Given the description of an element on the screen output the (x, y) to click on. 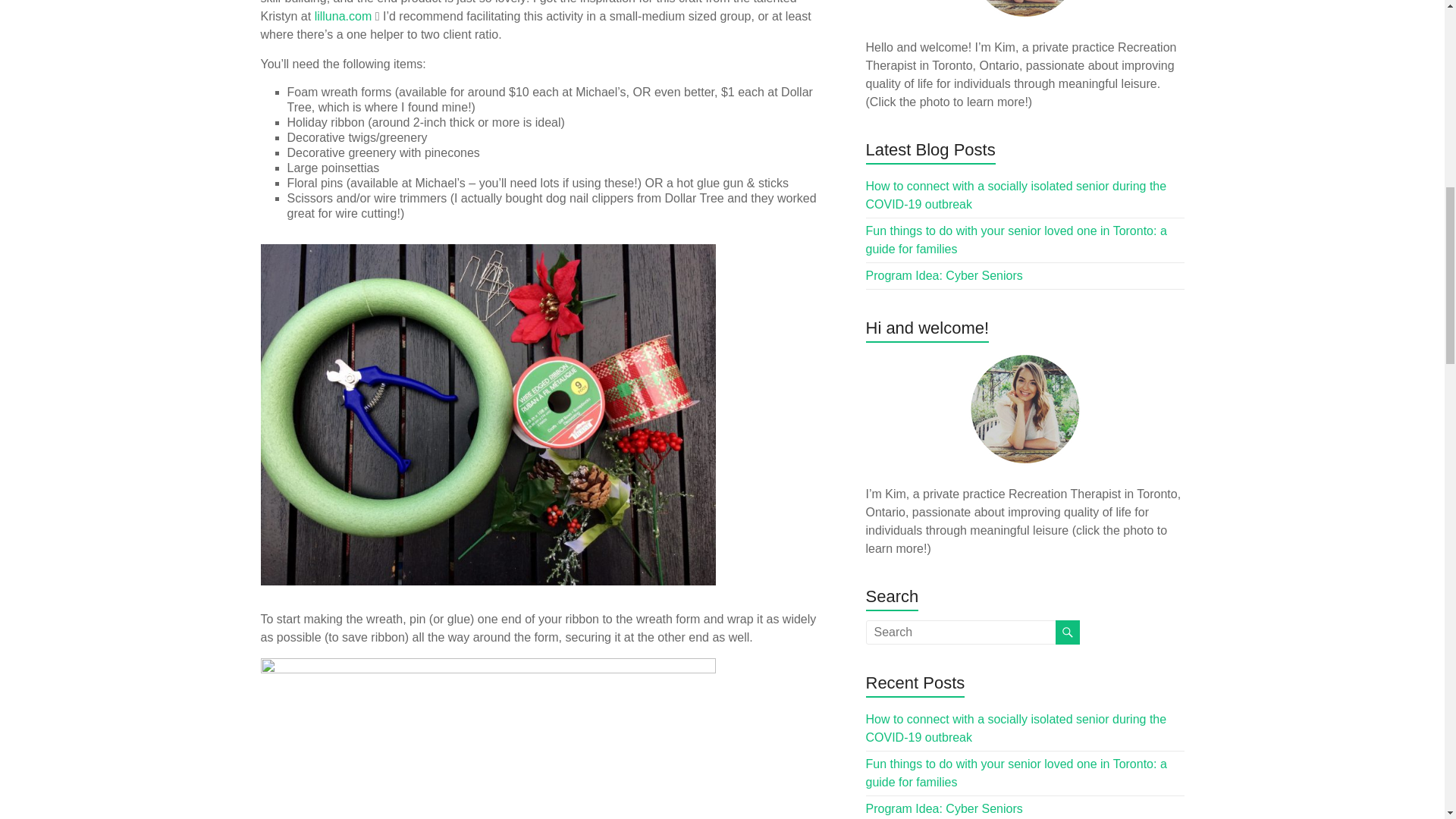
Learn more (1025, 9)
Program Idea: Cyber Seniors (944, 275)
Hi and welcome! (1025, 409)
lilluna.com (343, 15)
Program Idea: Cyber Seniors (944, 808)
